Given the description of an element on the screen output the (x, y) to click on. 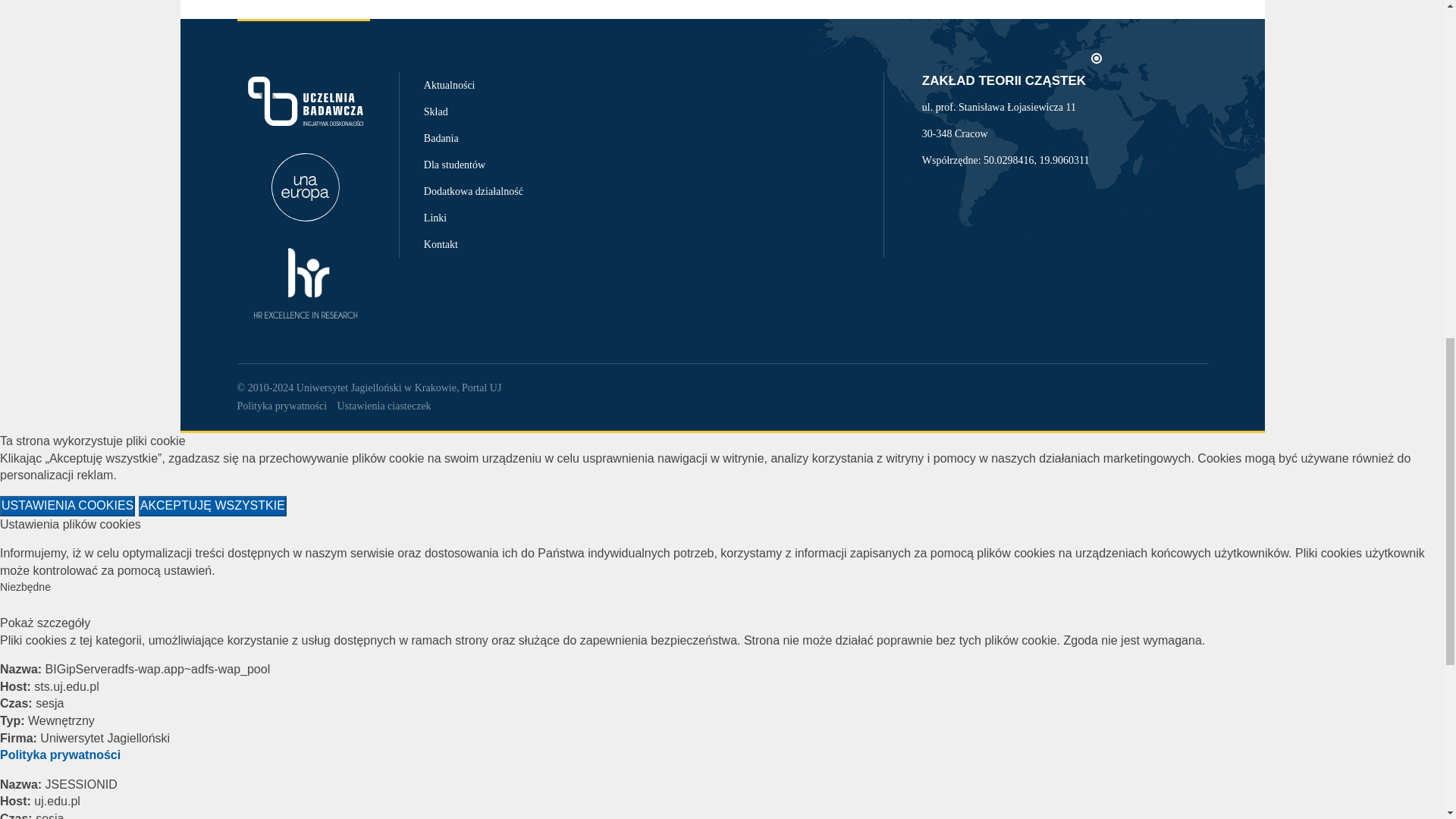
HR Excellence in Research (303, 283)
UNA Europa (303, 187)
